Given the description of an element on the screen output the (x, y) to click on. 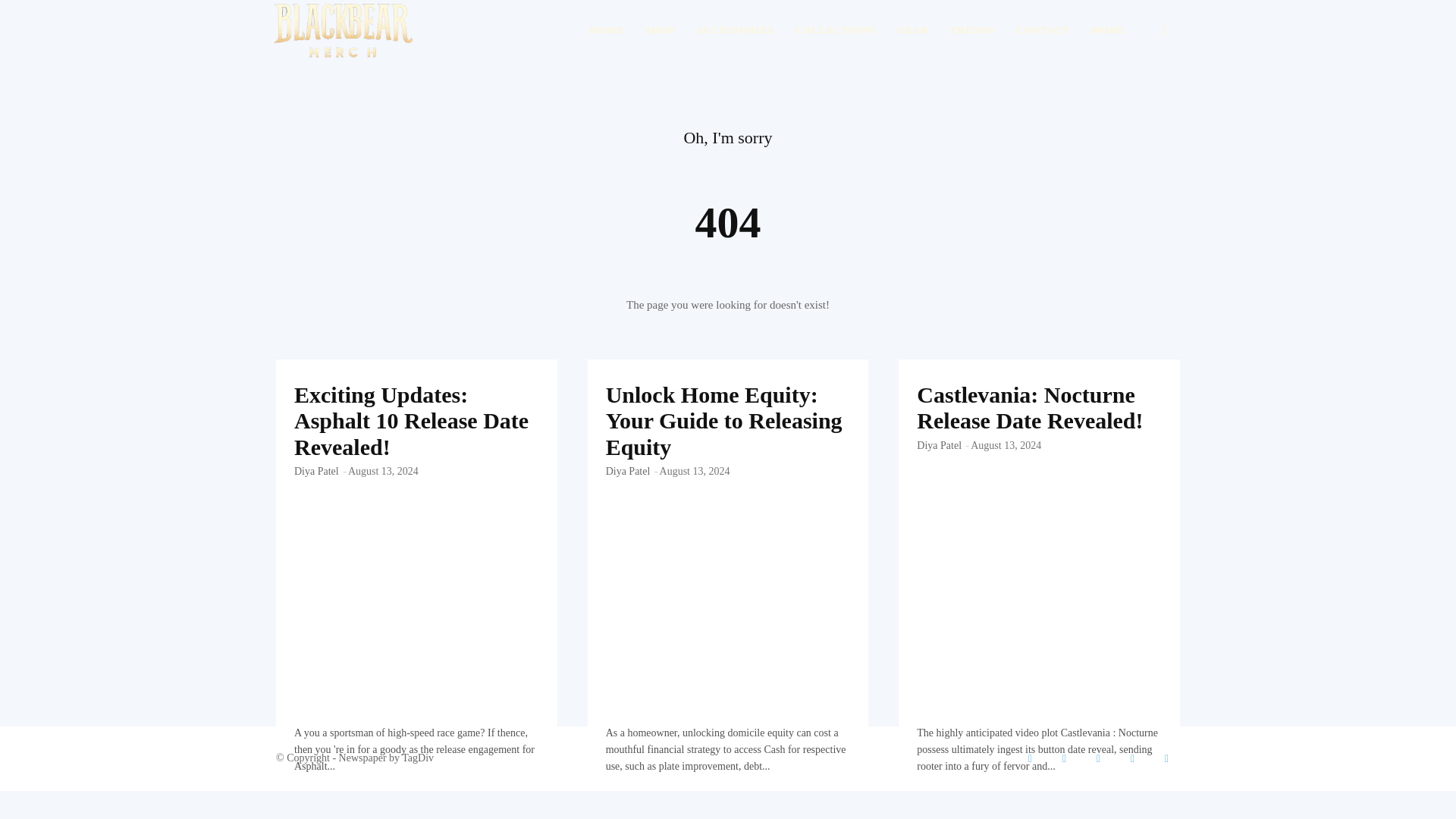
COLLECTIONS (835, 30)
Exciting Updates: Asphalt 10 Release Date Revealed! (416, 443)
MORE (1107, 30)
Exciting Updates: Asphalt 10 Release Date Revealed! (411, 420)
Search (1140, 102)
HOME (605, 30)
TRENDS (972, 30)
blackbearmerch.net (342, 30)
Diya Patel (316, 471)
Flickr (1064, 758)
